Given the description of an element on the screen output the (x, y) to click on. 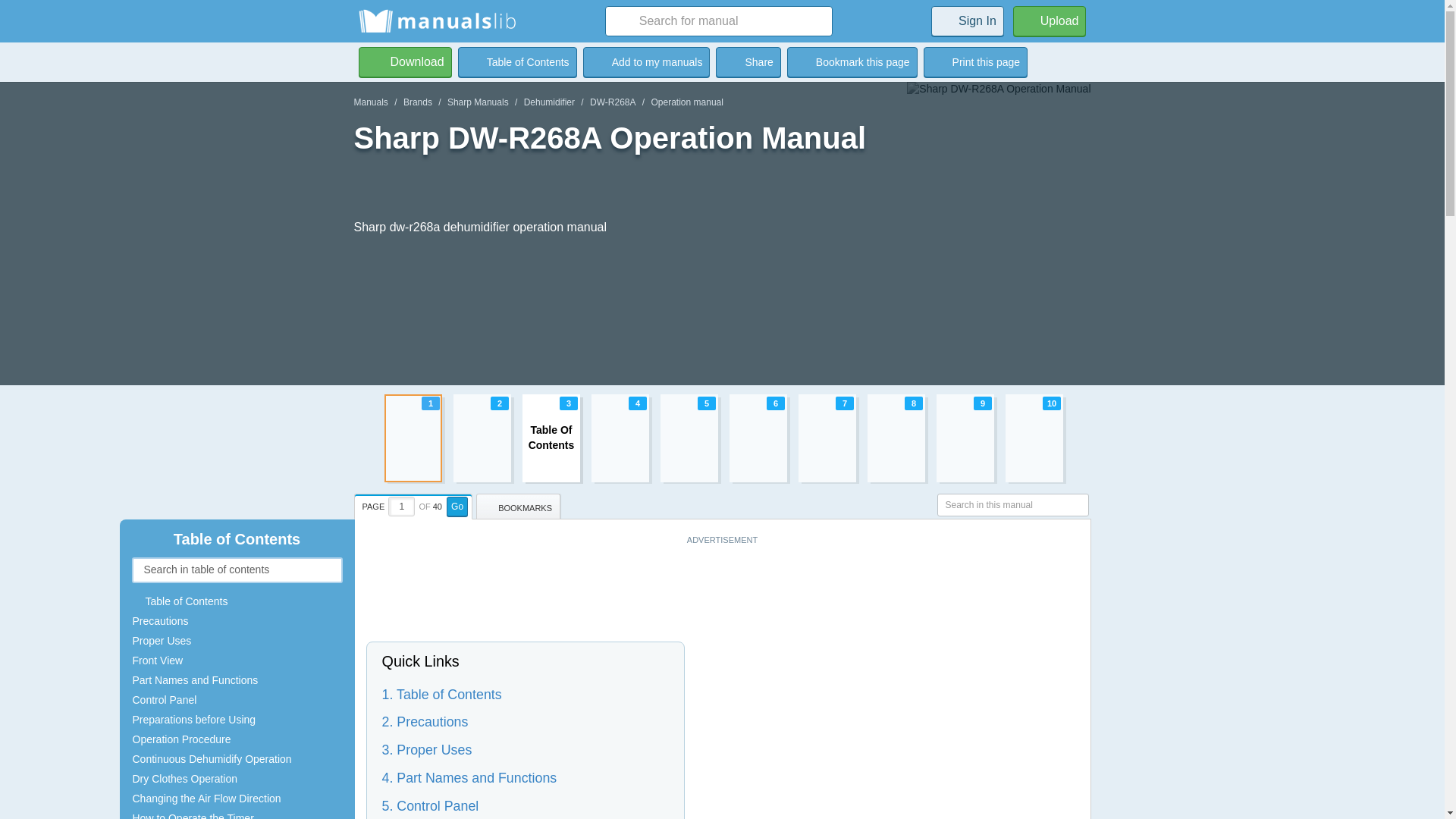
Upload (1049, 20)
DW-R268A (611, 102)
Brands (721, 437)
Print this page (417, 102)
Bookmark this manual (975, 61)
Manuals (646, 61)
Add to my manuals (370, 102)
Share (646, 61)
Print this page (748, 61)
